Given the description of an element on the screen output the (x, y) to click on. 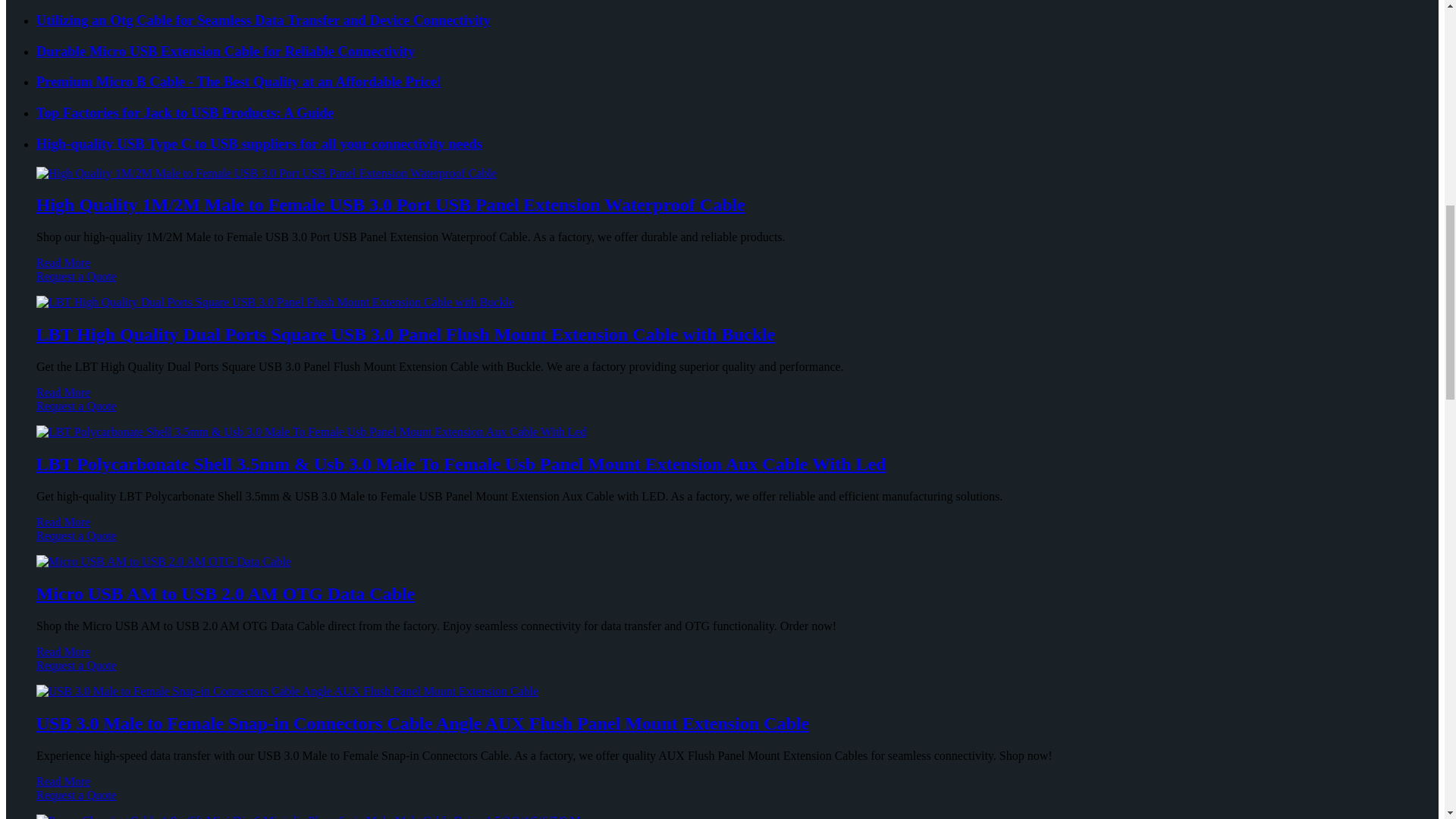
Request a Quote (721, 283)
Request a Quote (721, 412)
Read More (63, 262)
Read More (63, 391)
